Given the description of an element on the screen output the (x, y) to click on. 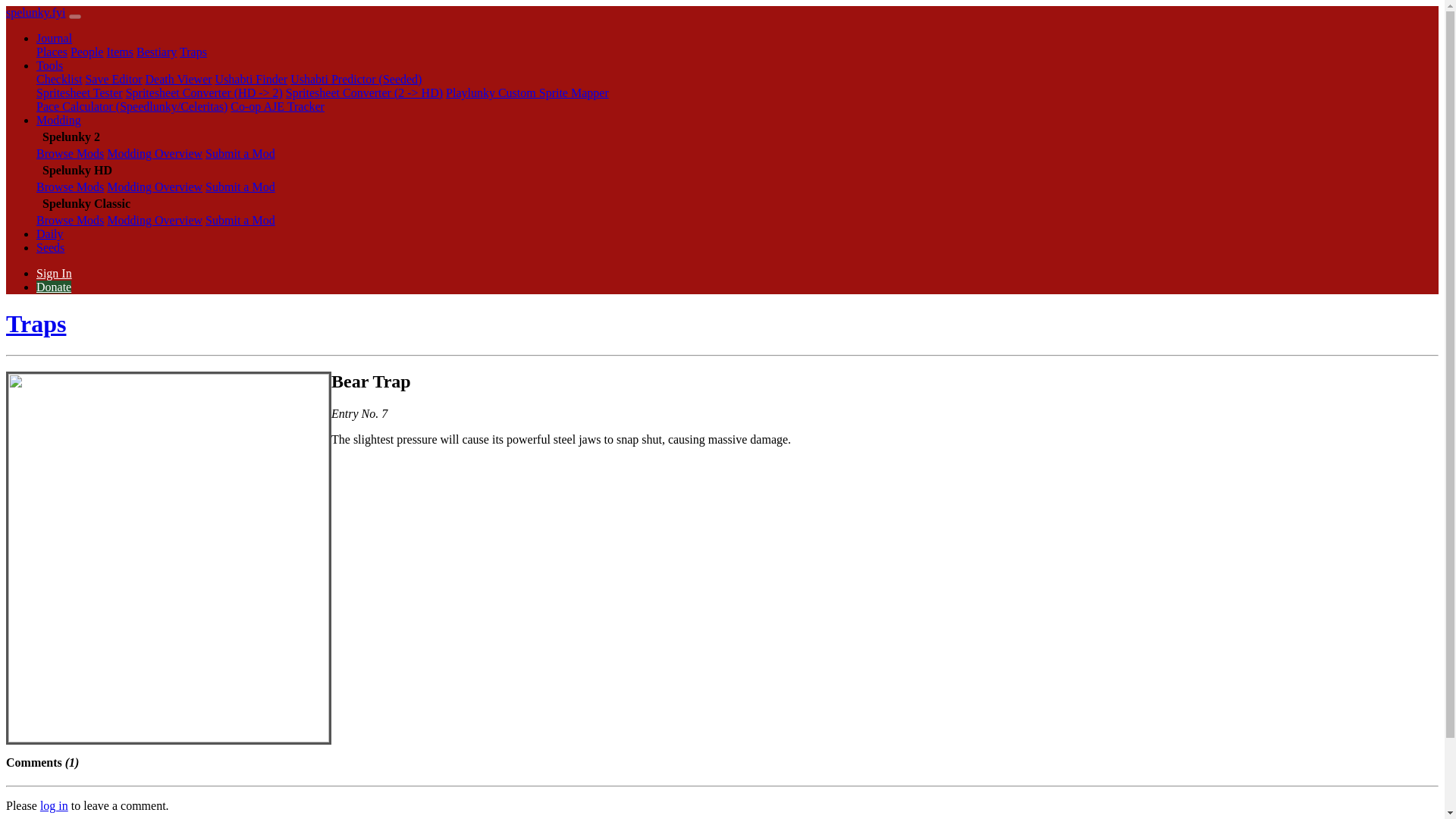
Save Editor (112, 78)
Bestiary (156, 51)
Donate (53, 286)
log in (54, 805)
Daily (50, 233)
Modding Overview (154, 219)
Ushabti Finder (251, 78)
Browse Mods (69, 153)
Modding Overview (154, 153)
spelunky.fyi (35, 11)
Modding Overview (154, 186)
Browse Mods (69, 186)
Items (119, 51)
Traps (192, 51)
Seeds (50, 246)
